Given the description of an element on the screen output the (x, y) to click on. 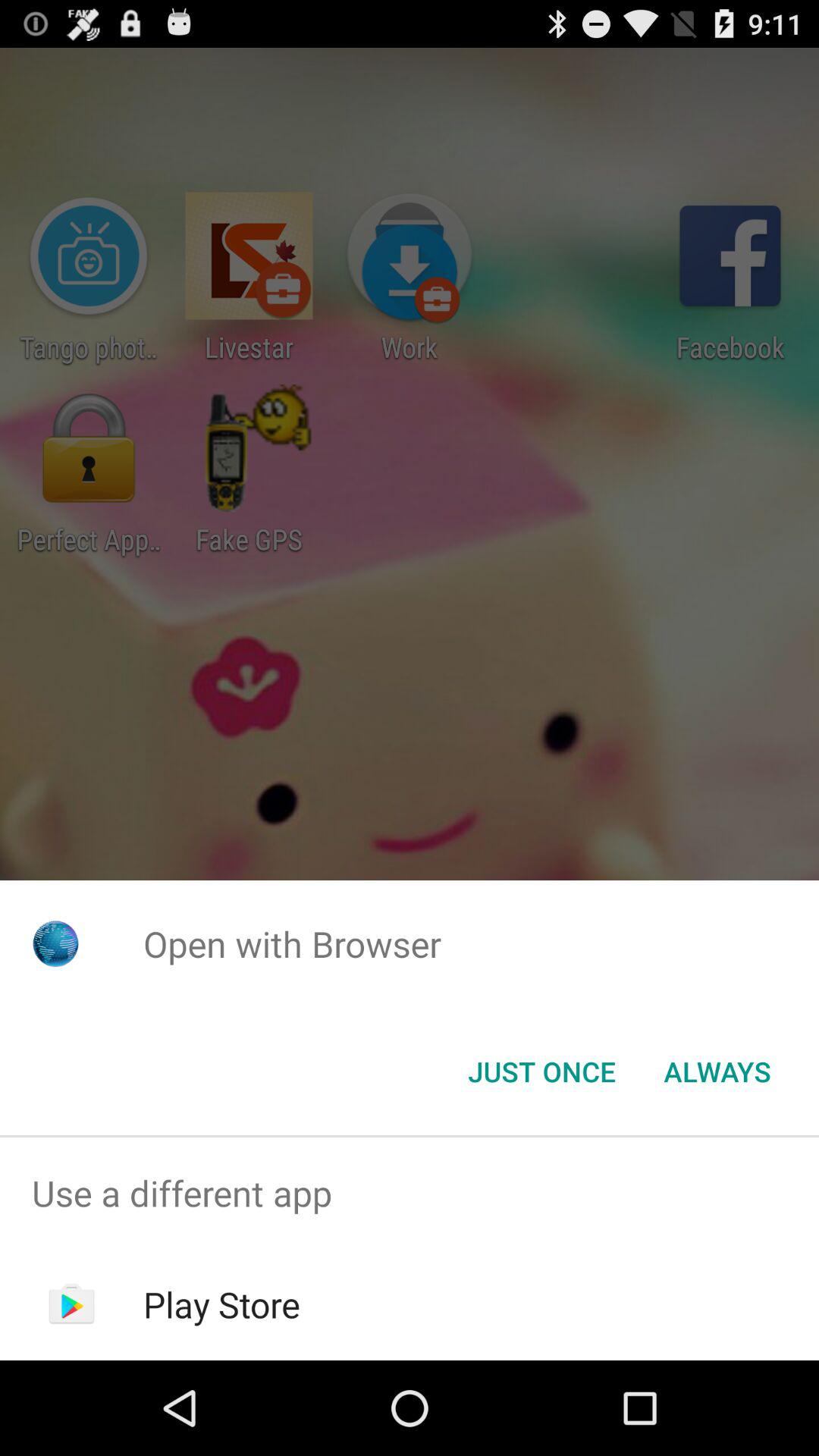
tap the button at the bottom right corner (717, 1071)
